Given the description of an element on the screen output the (x, y) to click on. 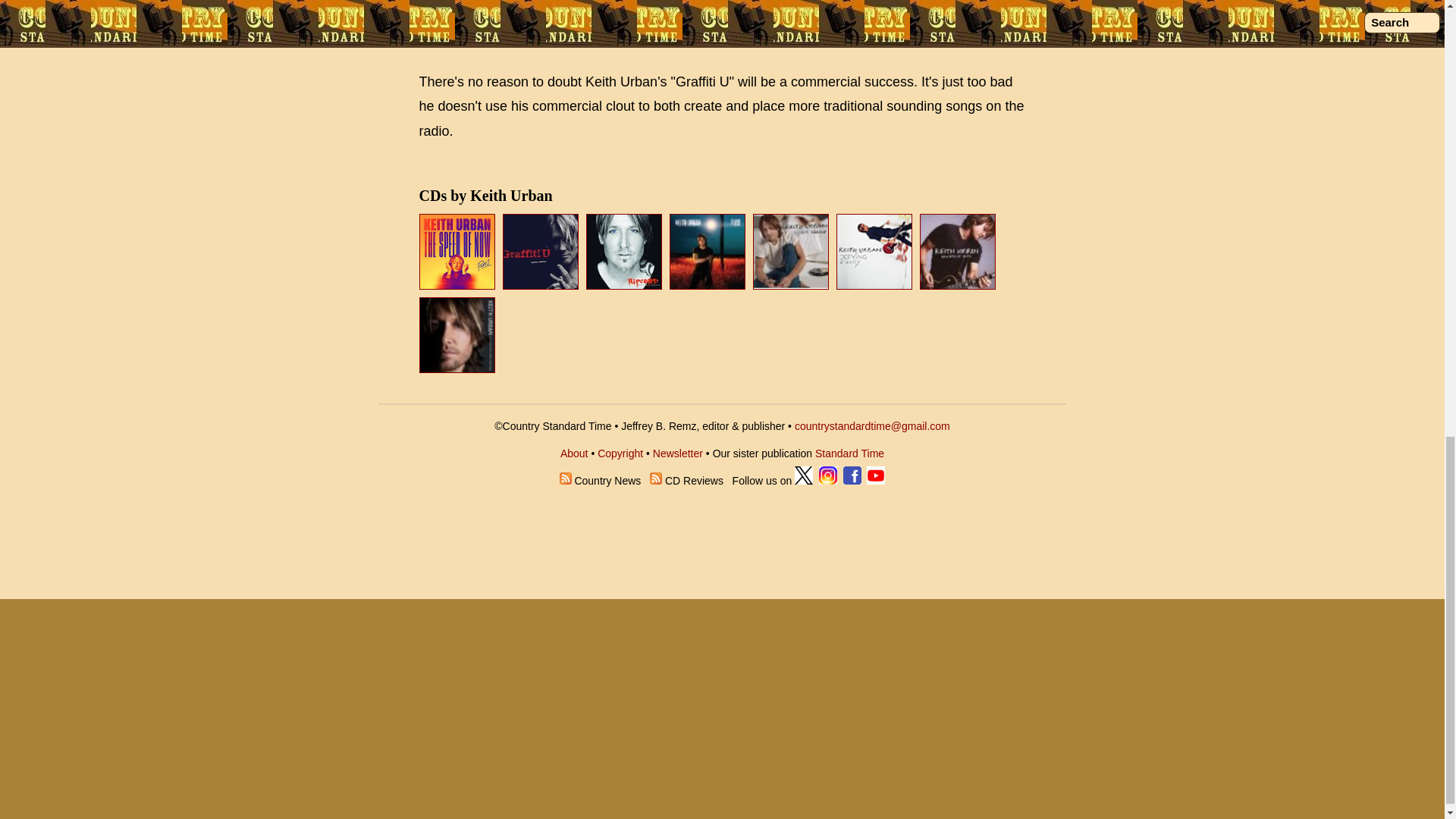
Keith Urban Greatest Hits: 18 Kids, 2007 (959, 284)
THE SPEED OF NOW Part 1, 2020 (457, 251)
Get Closer, 2010 (790, 251)
Graffiti U, 2018 (540, 251)
Graffiti U, 2018 (542, 284)
THE SPEED OF NOW Part 1, 2020 (458, 284)
Subscribe to Country Music CD Reviews (655, 480)
Fuse, 2013 (707, 251)
Ripcord, 2016 (624, 251)
Ripcord, 2016 (625, 284)
Defying Gravity, 2009 (873, 251)
Get Closer, 2010 (792, 284)
Defying Gravity, 2009 (875, 284)
Advertisement (722, 28)
Fuse, 2013 (709, 284)
